Given the description of an element on the screen output the (x, y) to click on. 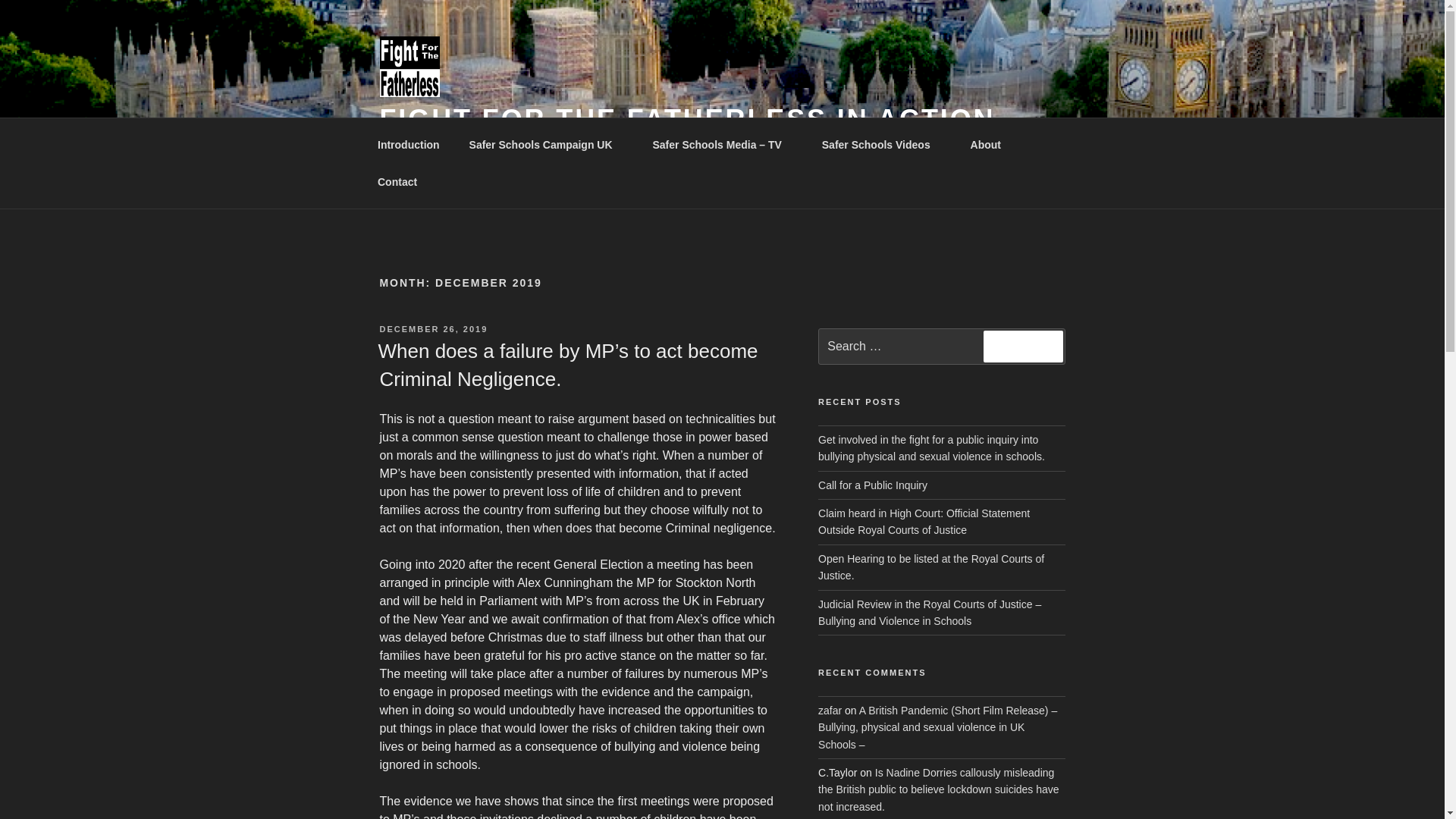
Introduction (408, 144)
Safer Schools Campaign UK (545, 144)
FIGHT FOR THE FATHERLESS IN ACTION (686, 119)
